Given the description of an element on the screen output the (x, y) to click on. 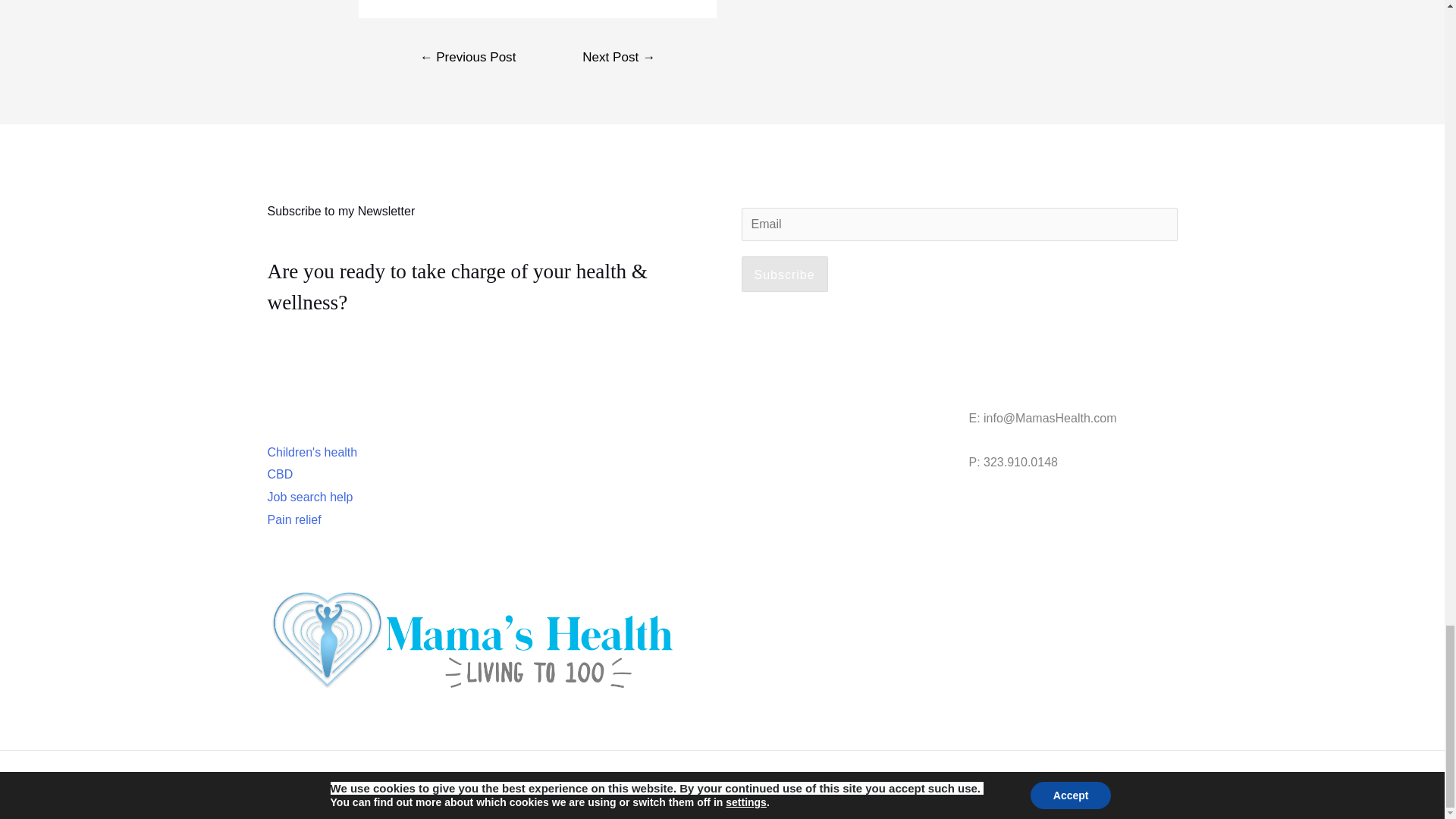
Children's health (311, 451)
Pain relief (293, 519)
Job search help (309, 496)
CBD (279, 473)
Subscribe (784, 274)
